Given the description of an element on the screen output the (x, y) to click on. 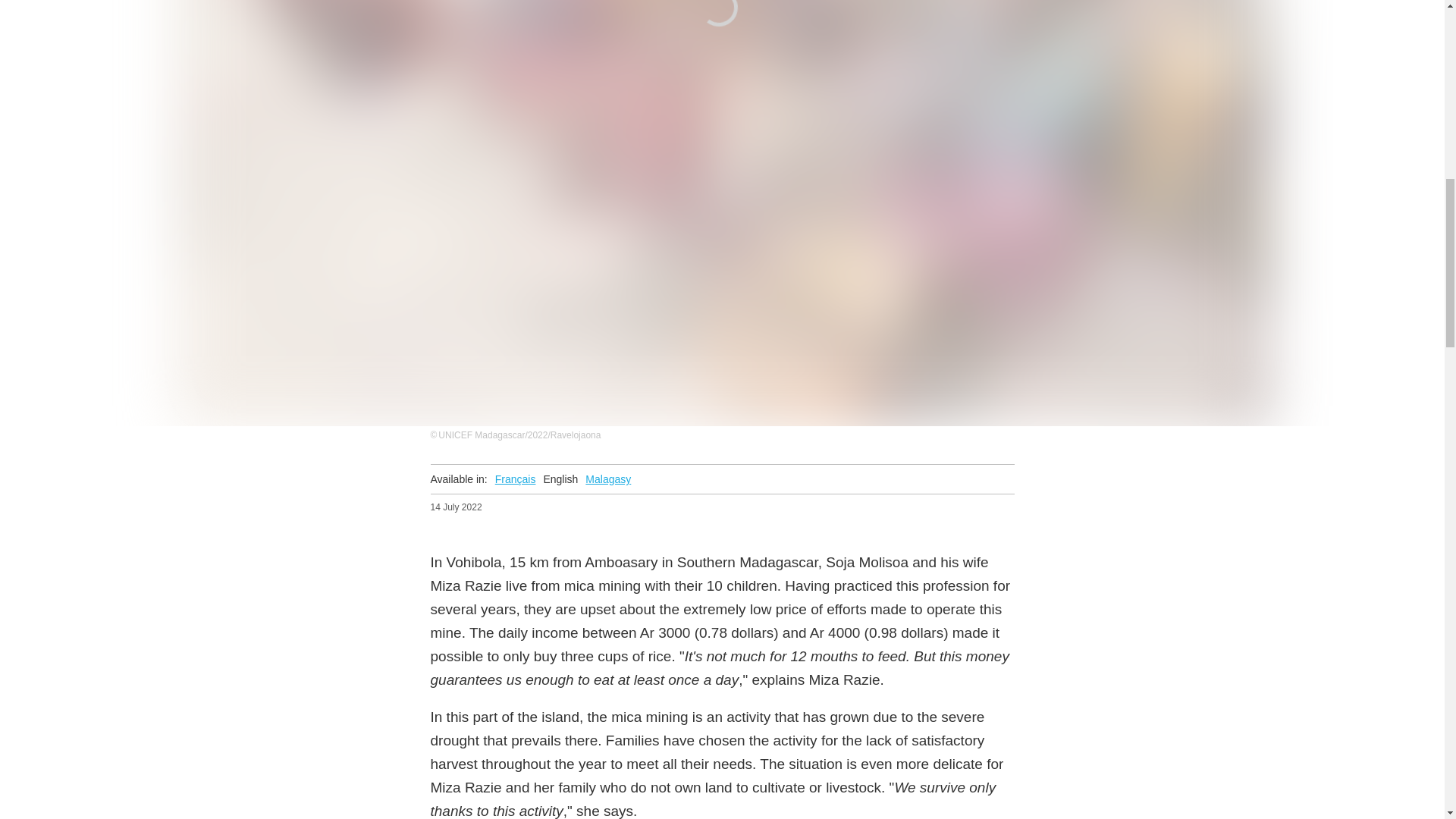
Malagasy (607, 479)
